Given the description of an element on the screen output the (x, y) to click on. 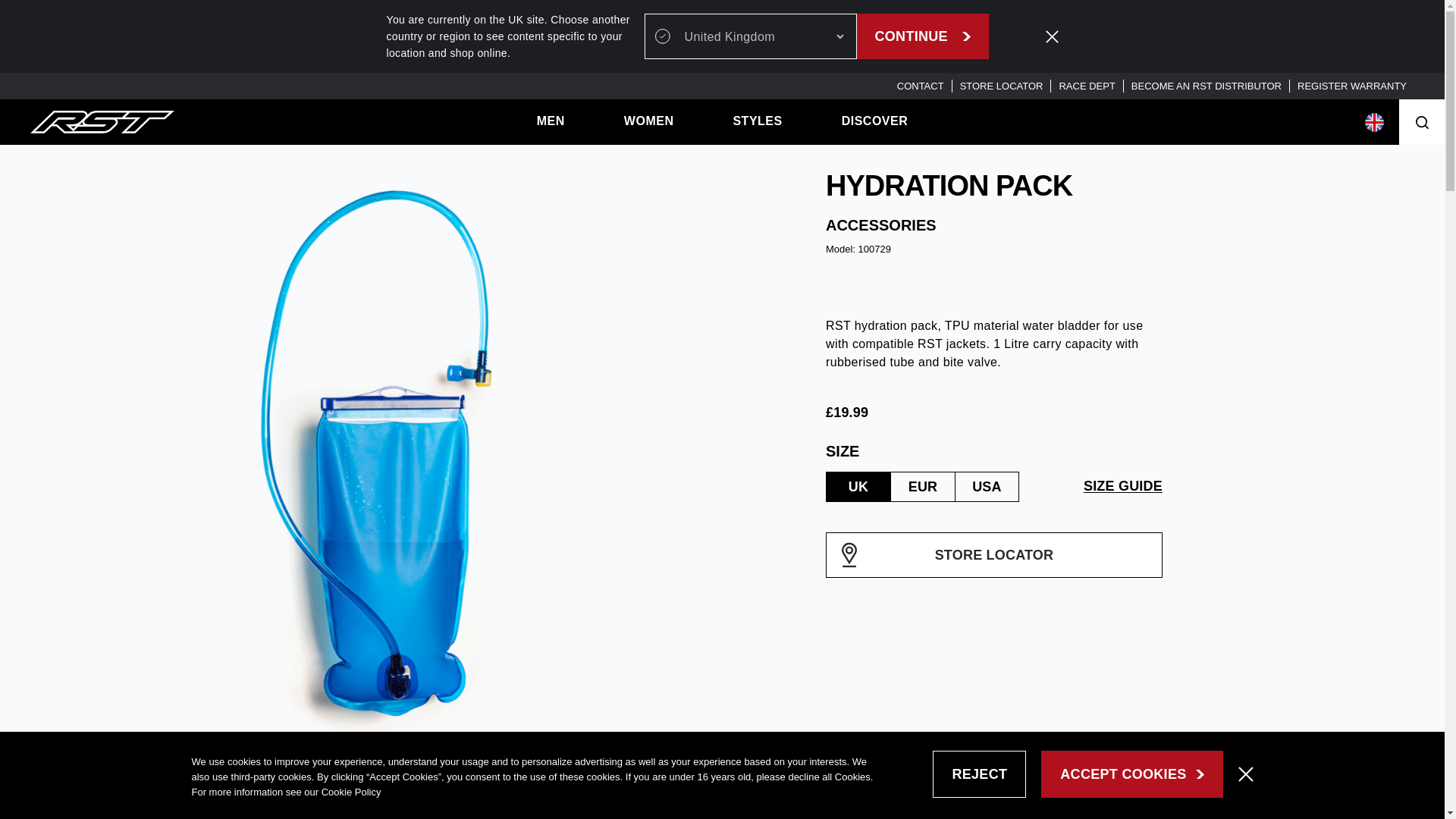
Cookie Policy (351, 792)
REJECT (979, 774)
CONTACT (919, 85)
REGISTER WARRANTY (1351, 85)
WOMEN (649, 121)
ACCEPT COOKIES (1132, 774)
BECOME AN RST DISTRIBUTOR (1206, 85)
RACE DEPT (1086, 85)
STORE LOCATOR (1001, 85)
CONTINUE (922, 35)
